Given the description of an element on the screen output the (x, y) to click on. 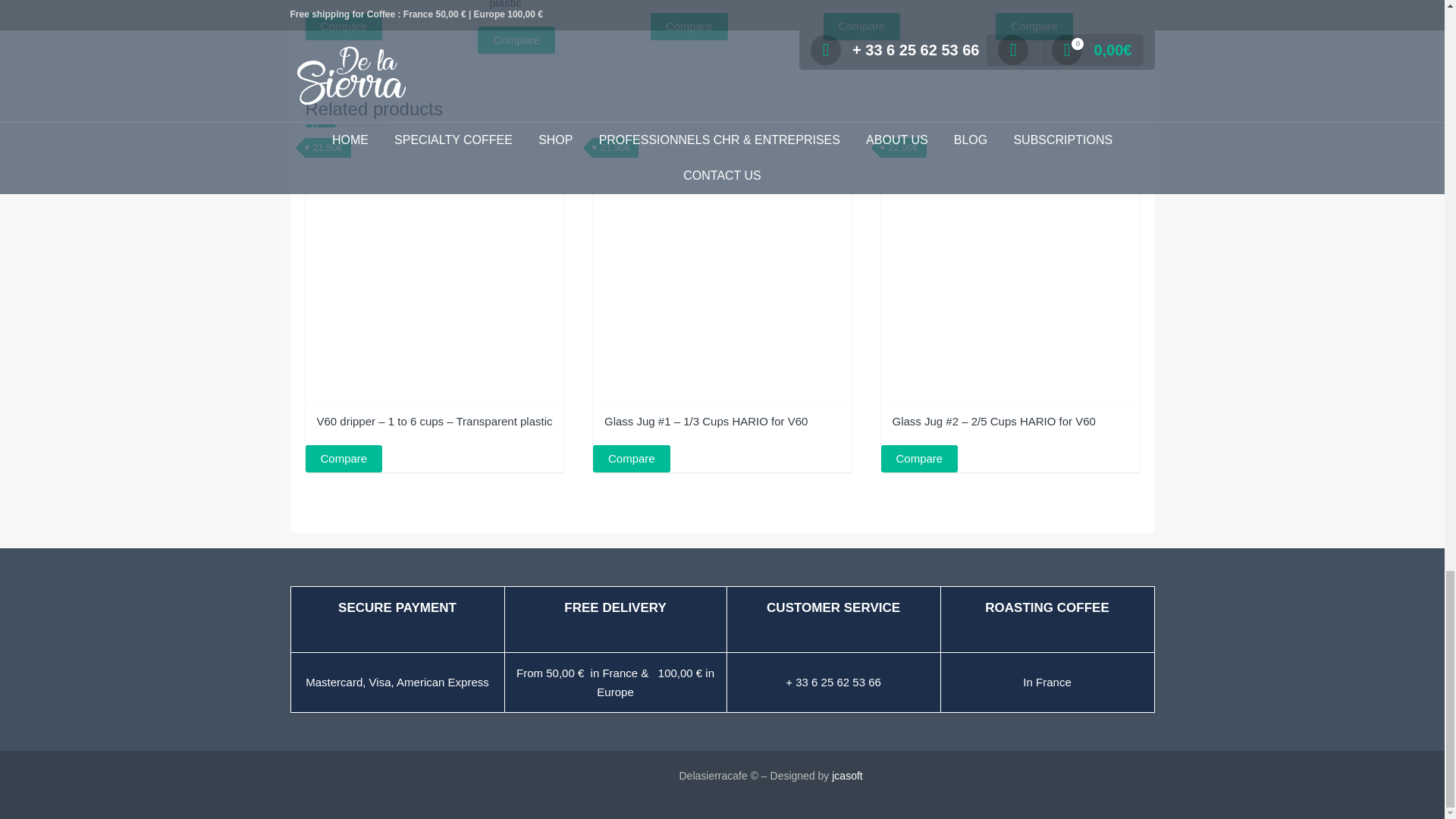
Twitter (335, 784)
Instagram (365, 784)
Facebook (304, 784)
Email (395, 784)
